Given the description of an element on the screen output the (x, y) to click on. 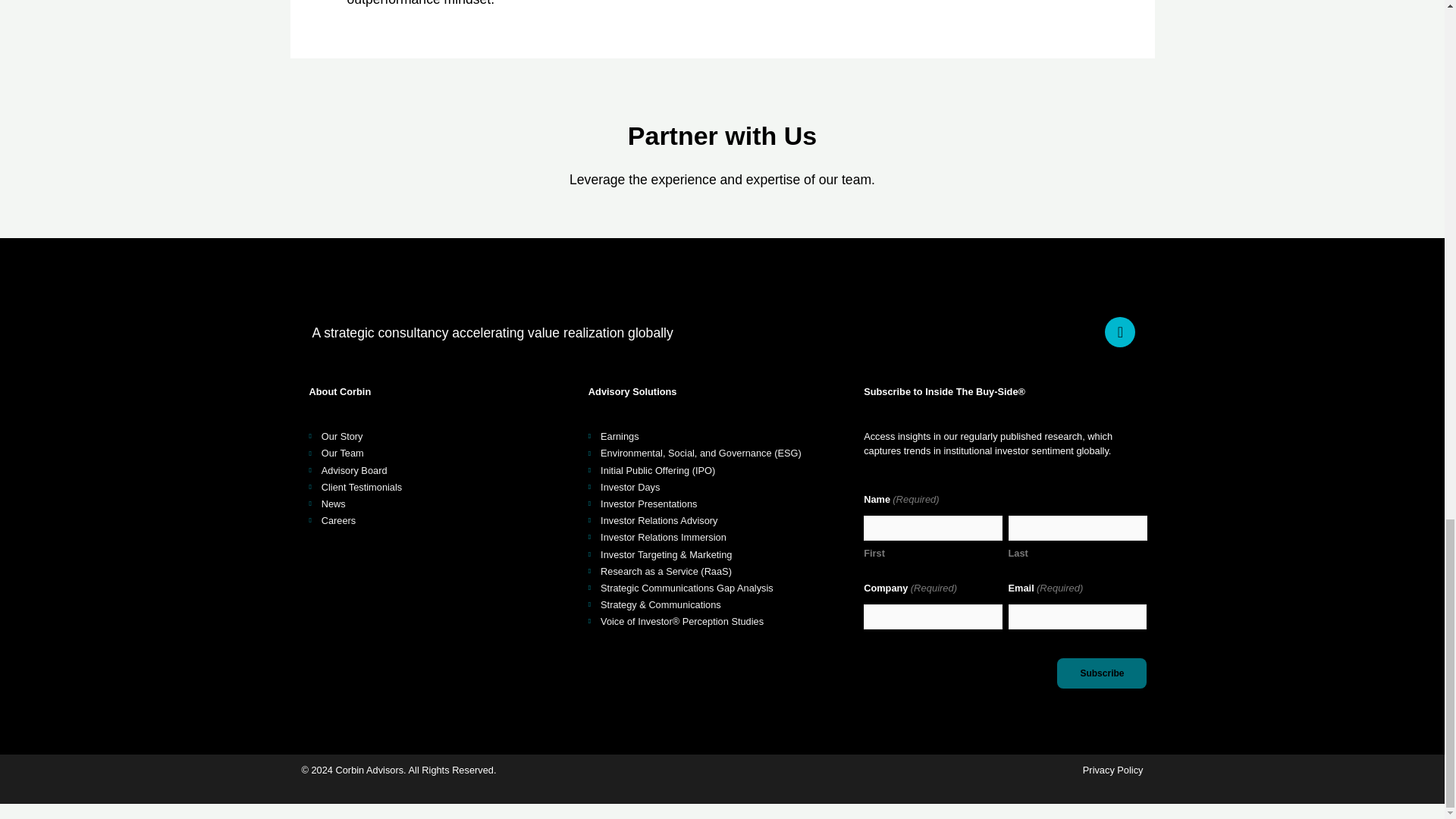
Subscribe (1102, 673)
Corbin-RGB-white (369, 295)
